Given the description of an element on the screen output the (x, y) to click on. 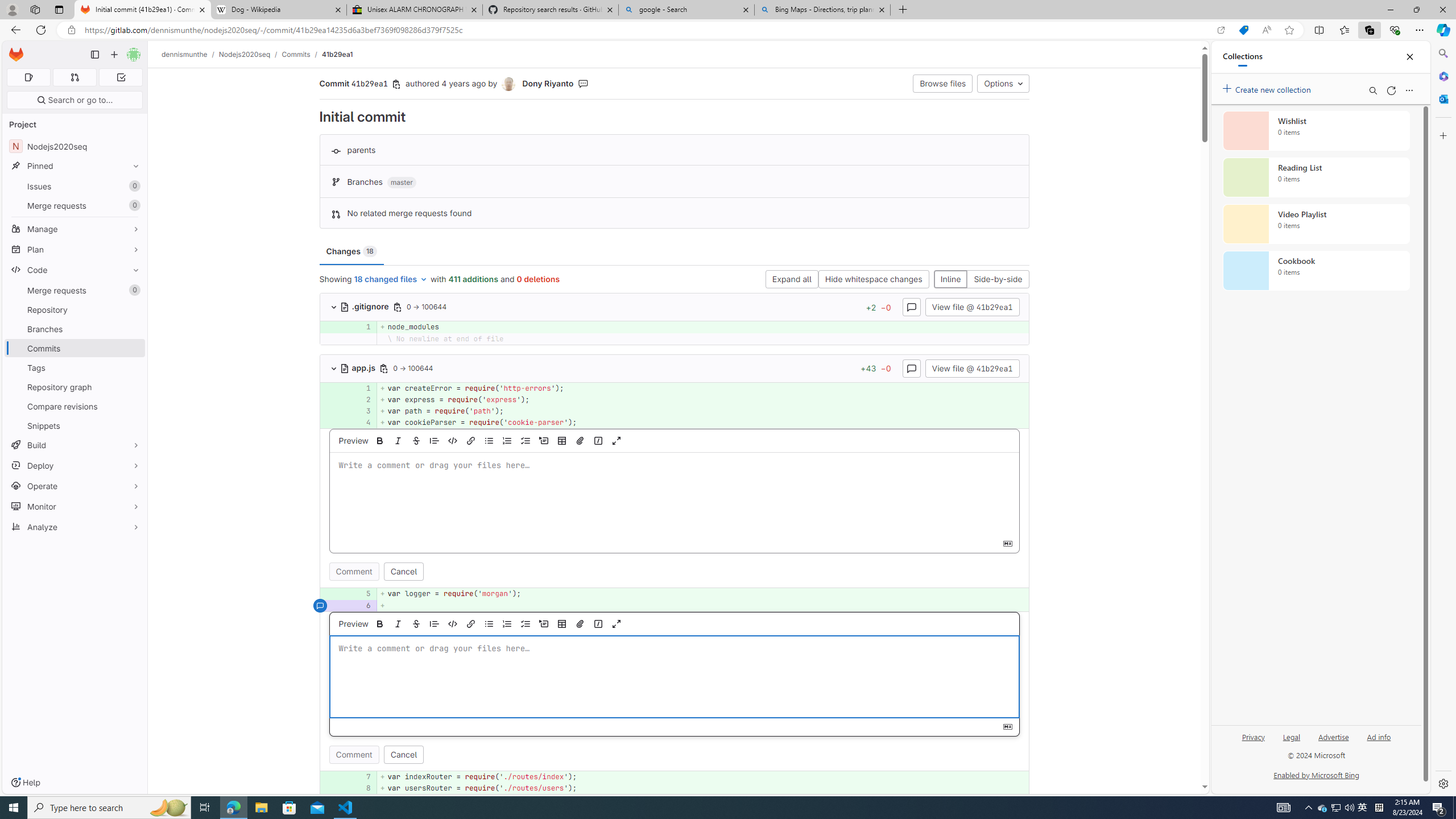
Pin Branches (132, 328)
Pin Repository (132, 309)
8 (360, 788)
View file @ 41b29ea1 (971, 367)
Analyze (74, 526)
Add bold text (Ctrl+B) (379, 623)
Homepage (16, 54)
Side-by-side (997, 279)
